Given the description of an element on the screen output the (x, y) to click on. 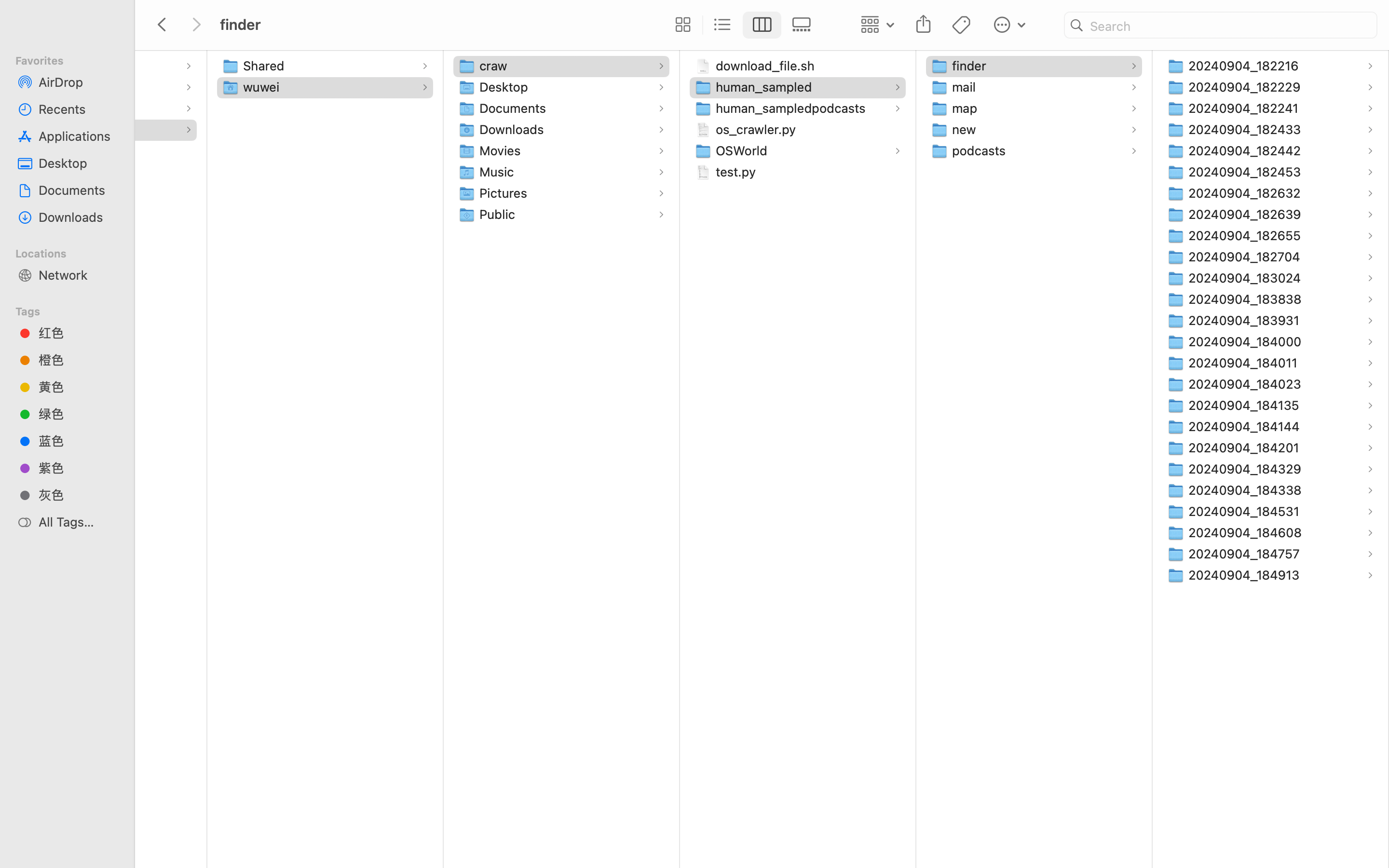
20240904_184608 Element type: AXTextField (1246, 532)
Shared Element type: AXTextField (265, 65)
All Tags… Element type: AXStaticText (77, 521)
OSWorld Element type: AXTextField (743, 150)
podcasts Element type: AXTextField (980, 150)
